Given the description of an element on the screen output the (x, y) to click on. 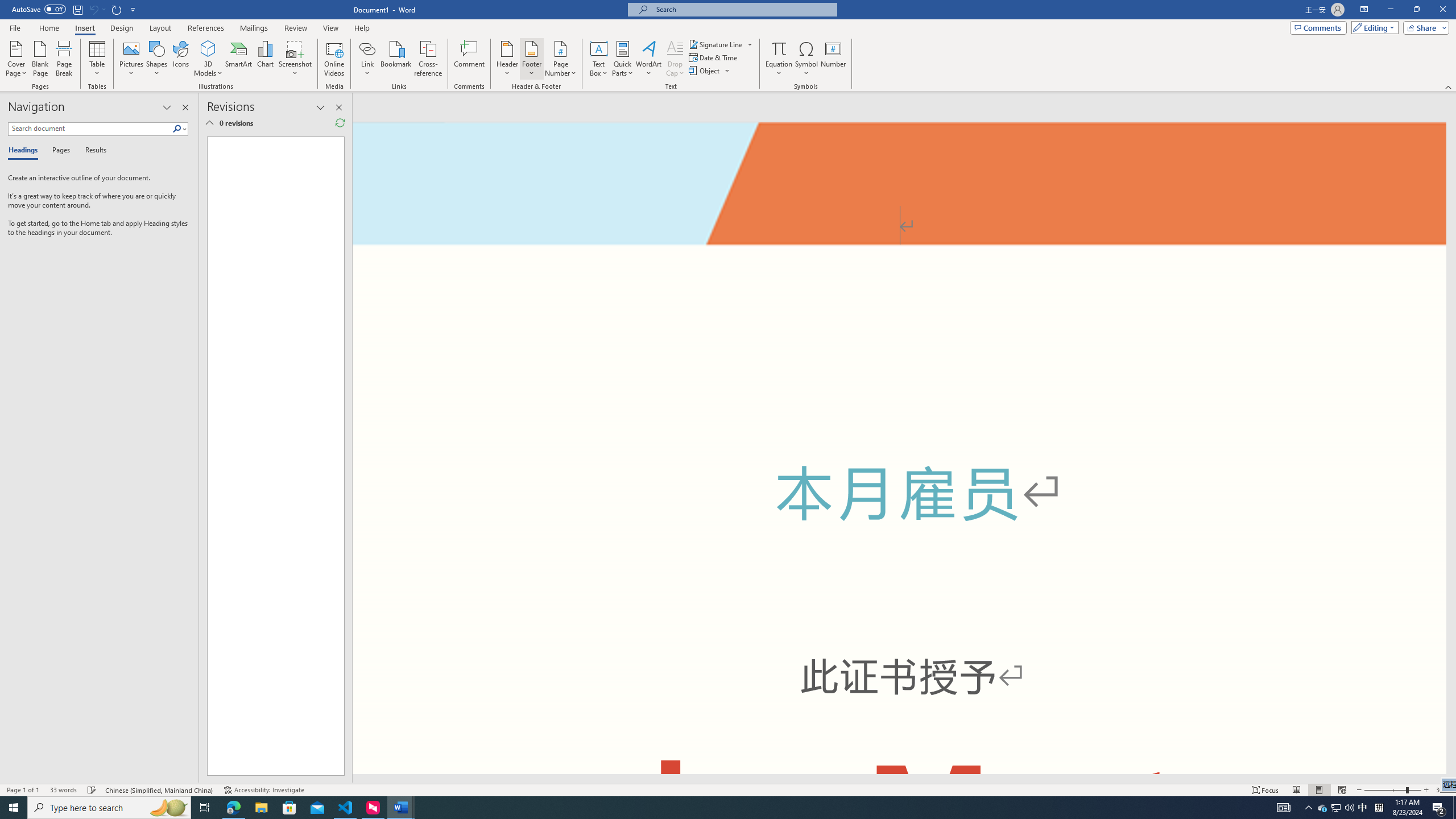
Page Number Page 1 of 1 (22, 790)
